Given the description of an element on the screen output the (x, y) to click on. 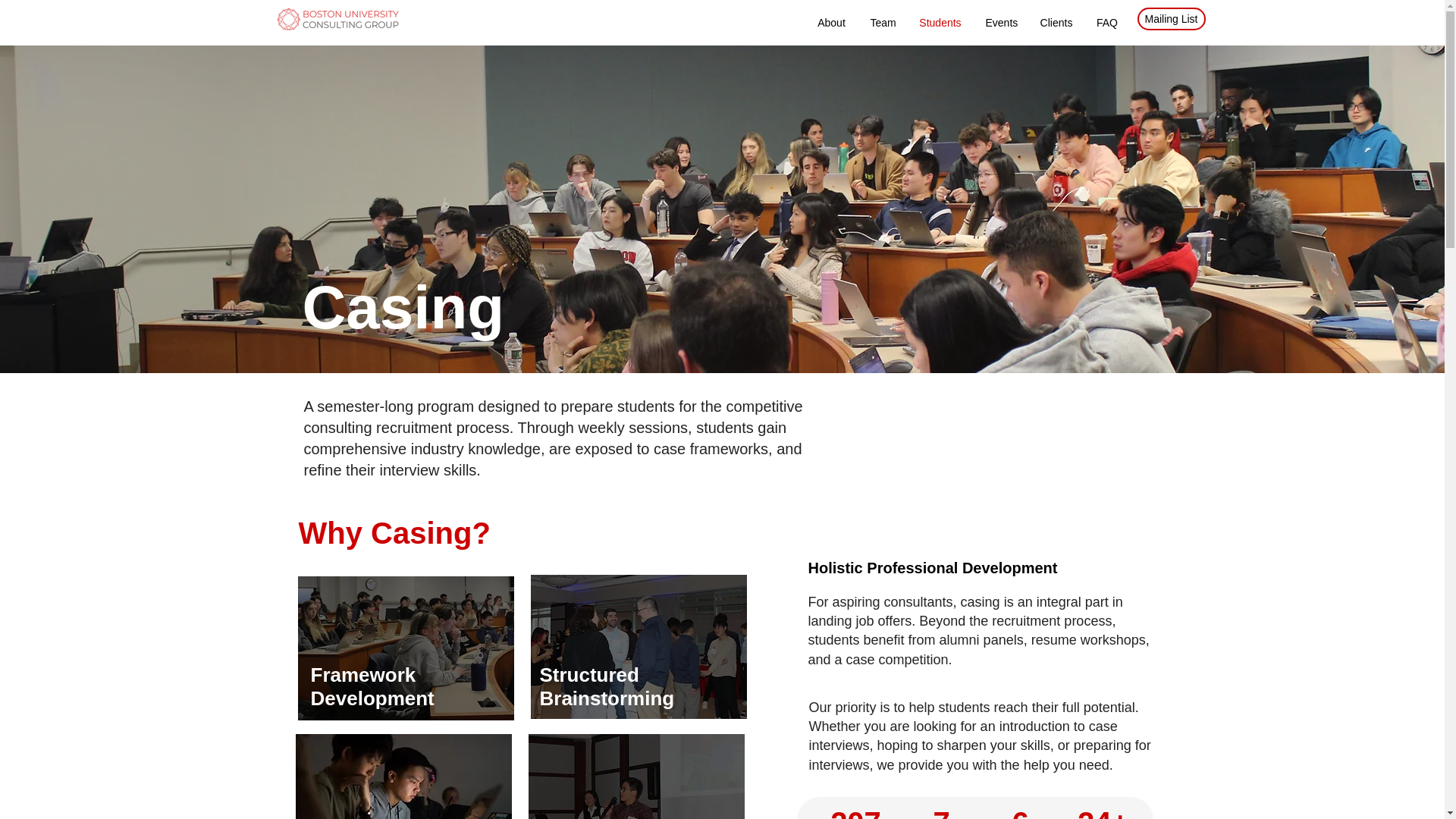
Students (940, 22)
Mailing List (1171, 18)
Clients (1055, 22)
About (830, 22)
Team (883, 22)
Events (1000, 22)
FAQ (1106, 22)
